Given the description of an element on the screen output the (x, y) to click on. 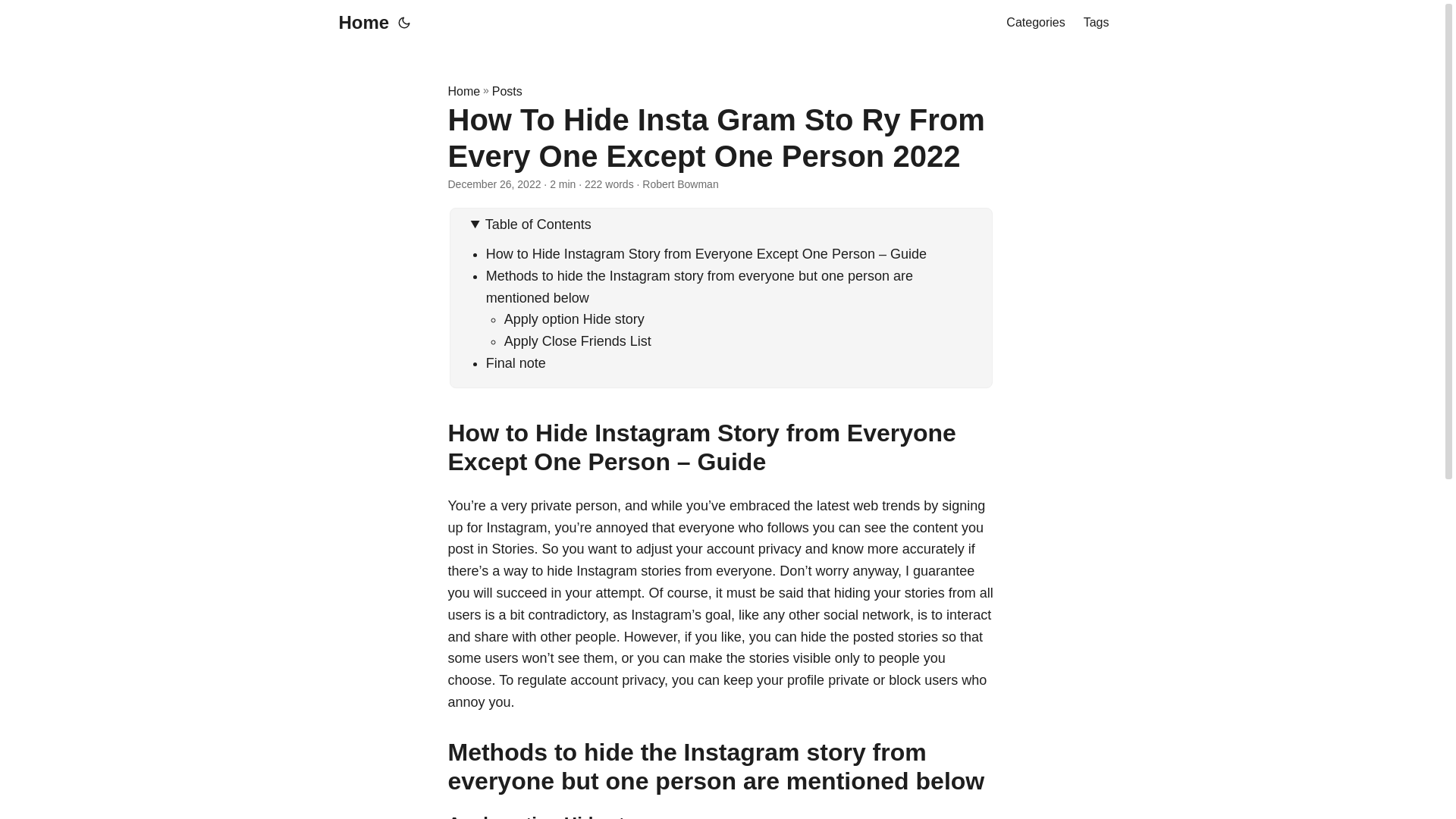
Home (359, 22)
Posts (507, 91)
Home (463, 91)
Tags (1096, 22)
Apply option Hide story (574, 319)
Categories (1035, 22)
Categories (1035, 22)
Apply Close Friends List (576, 340)
Final note (516, 363)
Tags (1096, 22)
